Given the description of an element on the screen output the (x, y) to click on. 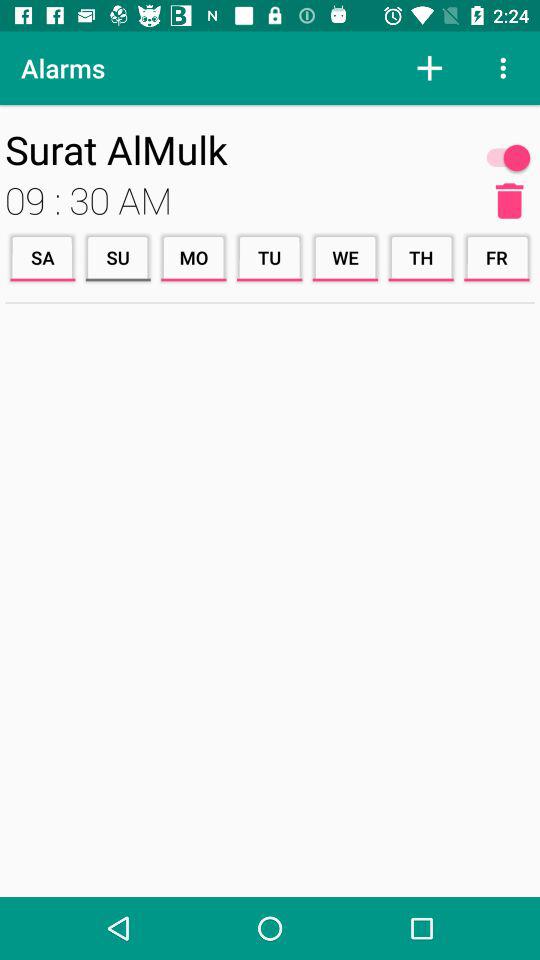
turn on the item above 09 : 30 am (238, 149)
